Given the description of an element on the screen output the (x, y) to click on. 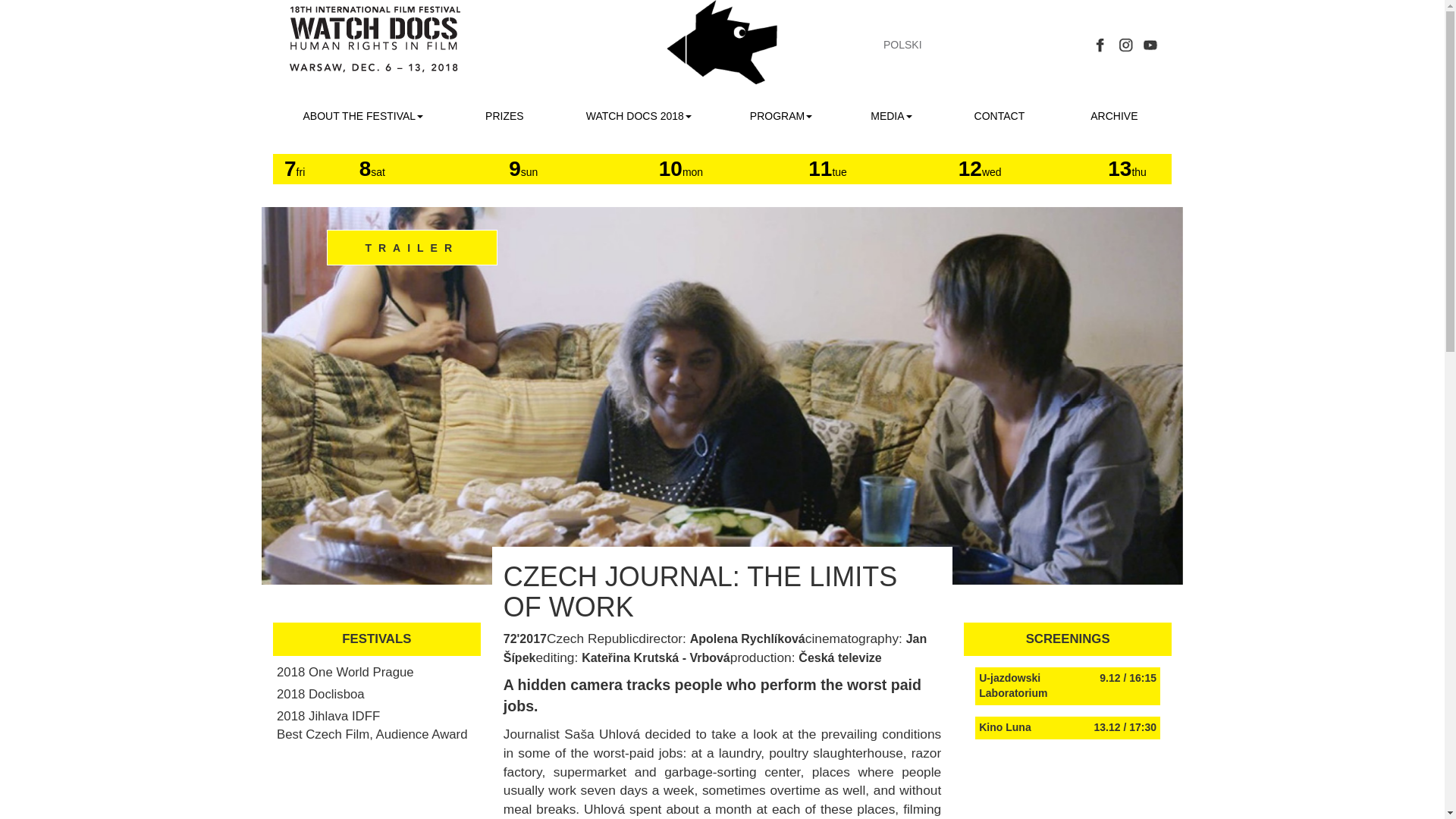
ABOUT THE FESTIVAL (362, 116)
POLSKI (902, 44)
